Given the description of an element on the screen output the (x, y) to click on. 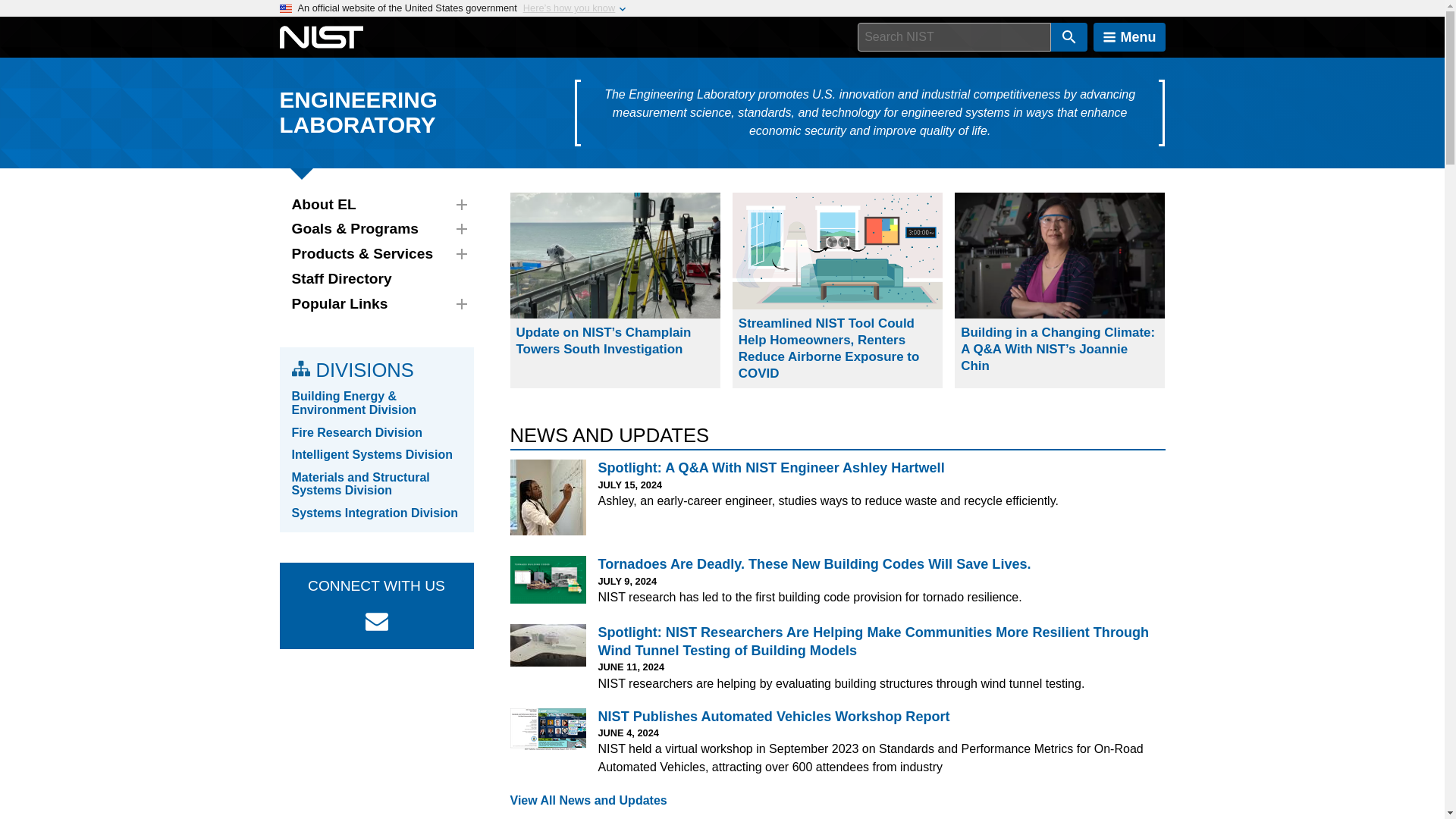
Materials and Structural Systems Division (360, 483)
Intelligent Systems Division (371, 454)
GovDelivery (376, 621)
Menu (1129, 36)
Popular Links (376, 303)
National Institute of Standards and Technology (320, 36)
Staff Directory (376, 278)
